Given the description of an element on the screen output the (x, y) to click on. 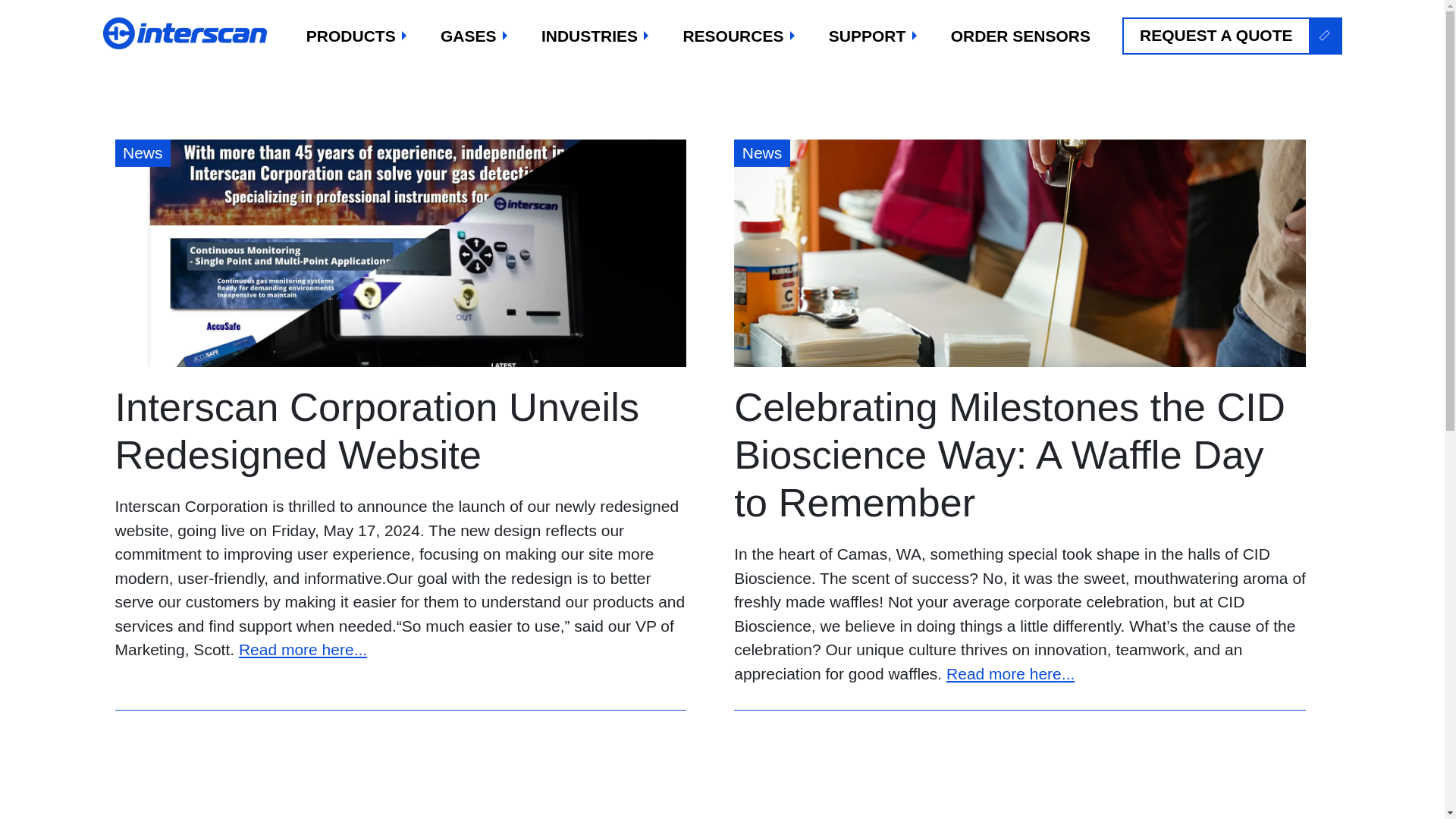
Products (357, 35)
PRODUCTS (357, 35)
GASES (475, 35)
Gases (475, 35)
Interscan Corporation (186, 33)
INDUSTRIES (595, 35)
